Given the description of an element on the screen output the (x, y) to click on. 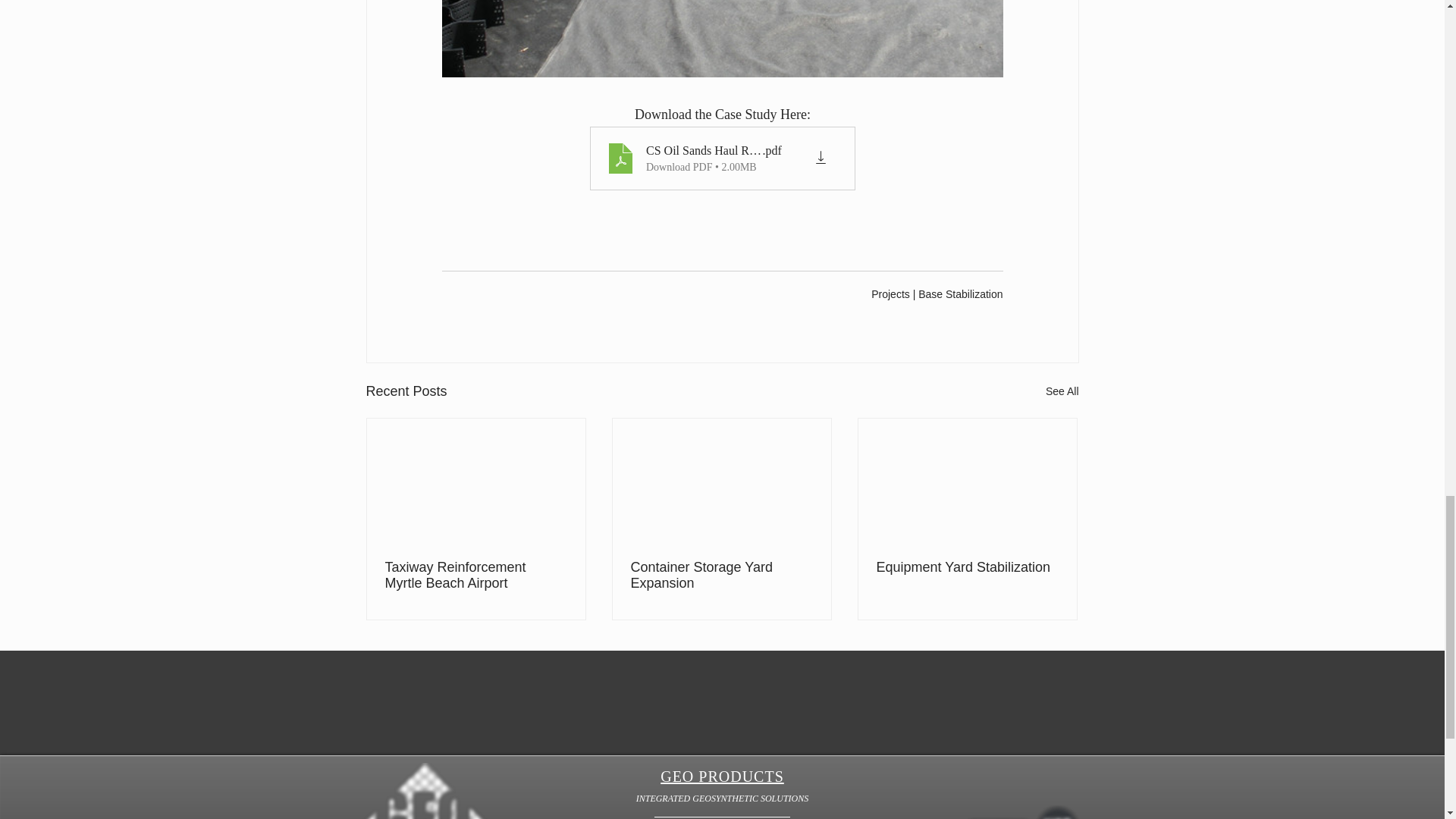
Geo Products ISO 9001 Logo.png (1057, 812)
Taxiway Reinforcement Myrtle Beach Airport (476, 575)
See All (1061, 391)
Geo Products Made in USA.png (996, 817)
